Given the description of an element on the screen output the (x, y) to click on. 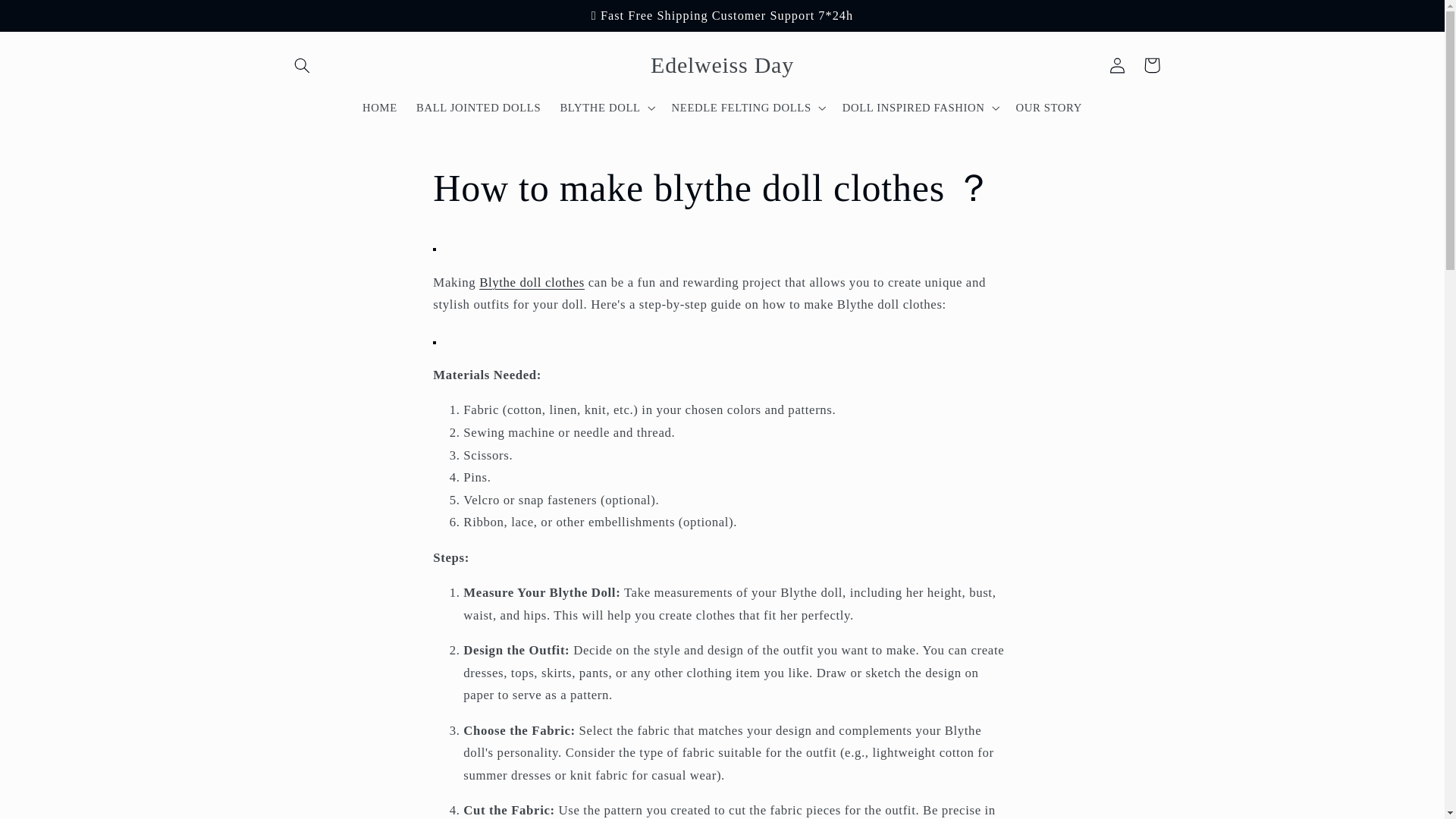
Skip to content (48, 18)
HOME (379, 108)
BALL JOINTED DOLLS (478, 108)
Edelweiss Day (722, 65)
